Given the description of an element on the screen output the (x, y) to click on. 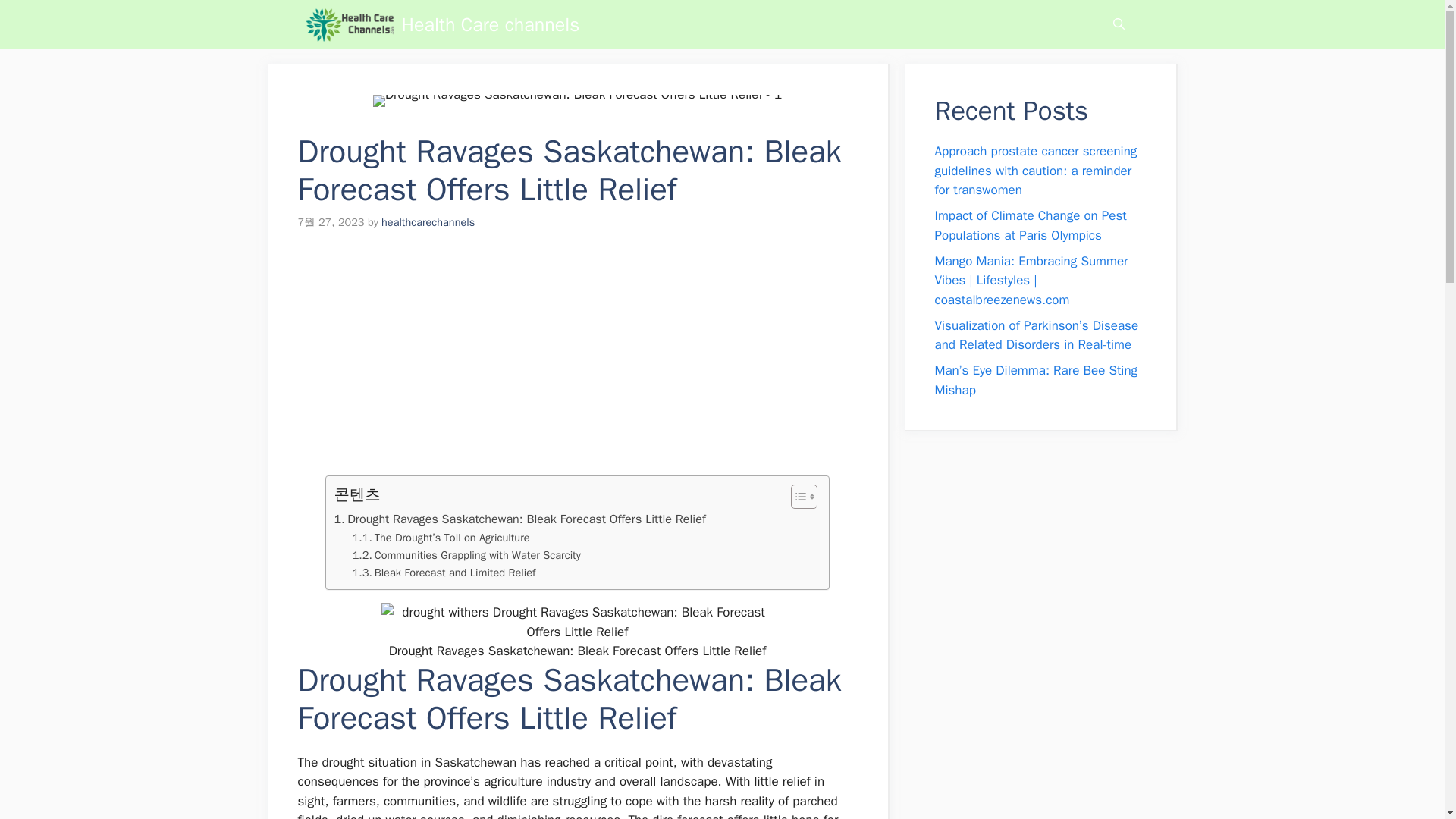
Health Care channels (490, 24)
Health Care channels (348, 24)
Advertisement (569, 363)
Communities Grappling with Water Scarcity (466, 555)
View all posts by healthcarechannels (427, 222)
healthcarechannels (427, 222)
Bleak Forecast and Limited Relief (443, 572)
Communities Grappling with Water Scarcity (466, 555)
Bleak Forecast and Limited Relief (443, 572)
